Given the description of an element on the screen output the (x, y) to click on. 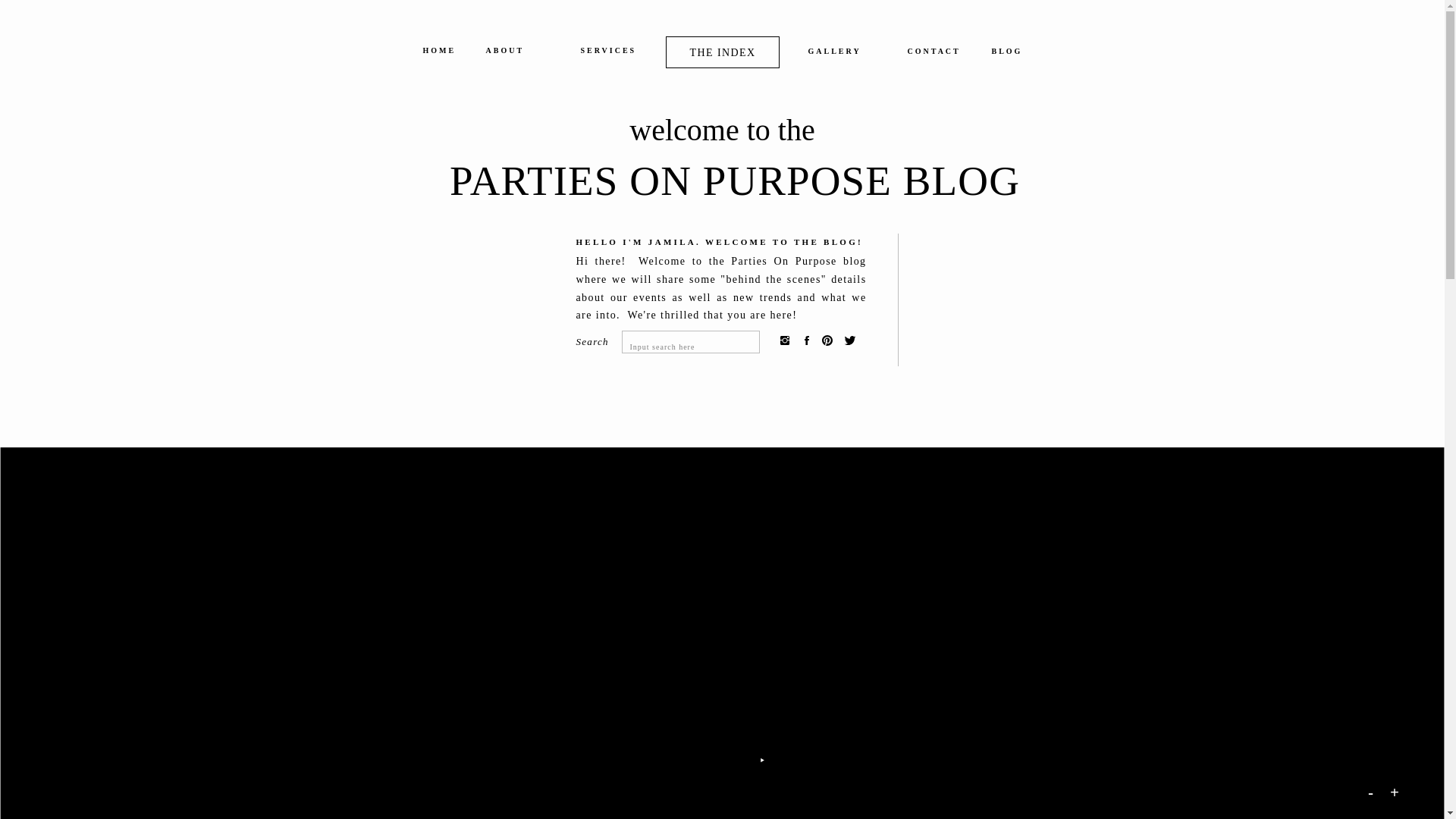
HOME (439, 53)
- (1372, 791)
BLOG (1006, 54)
SERVICES (609, 53)
ABOUT (517, 53)
CONTACT (931, 54)
GALLERY (840, 54)
